Given the description of an element on the screen output the (x, y) to click on. 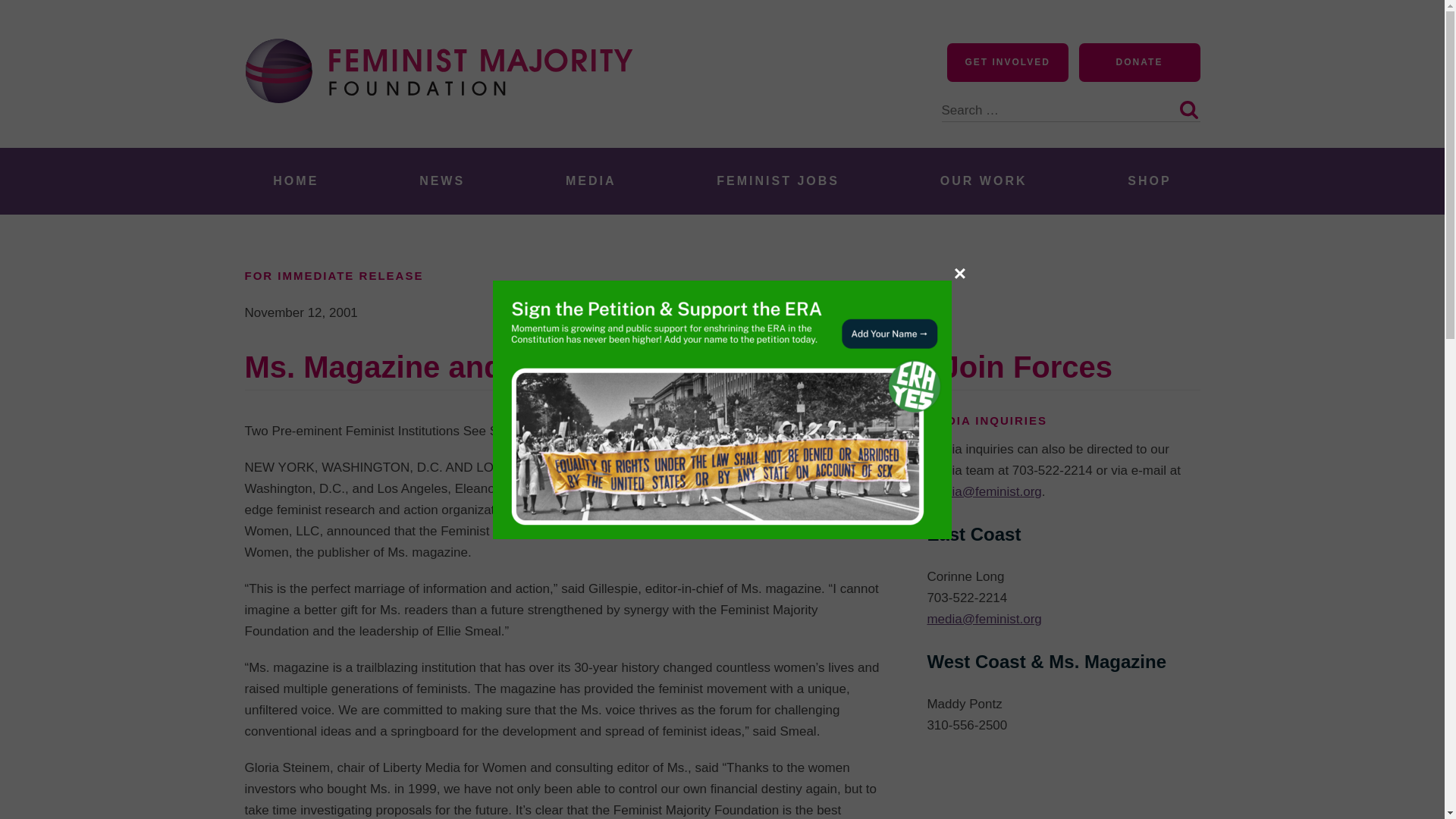
NEWS (441, 181)
Search (1187, 109)
MEDIA (591, 181)
Search (1187, 109)
OUR WORK (983, 181)
FEMINIST JOBS (777, 181)
Feminist Majority Foundation (445, 130)
HOME (295, 181)
Search (1187, 109)
SHOP (1149, 181)
Search for: (1070, 101)
DONATE (1138, 62)
GET INVOLVED (1007, 62)
